Given the description of an element on the screen output the (x, y) to click on. 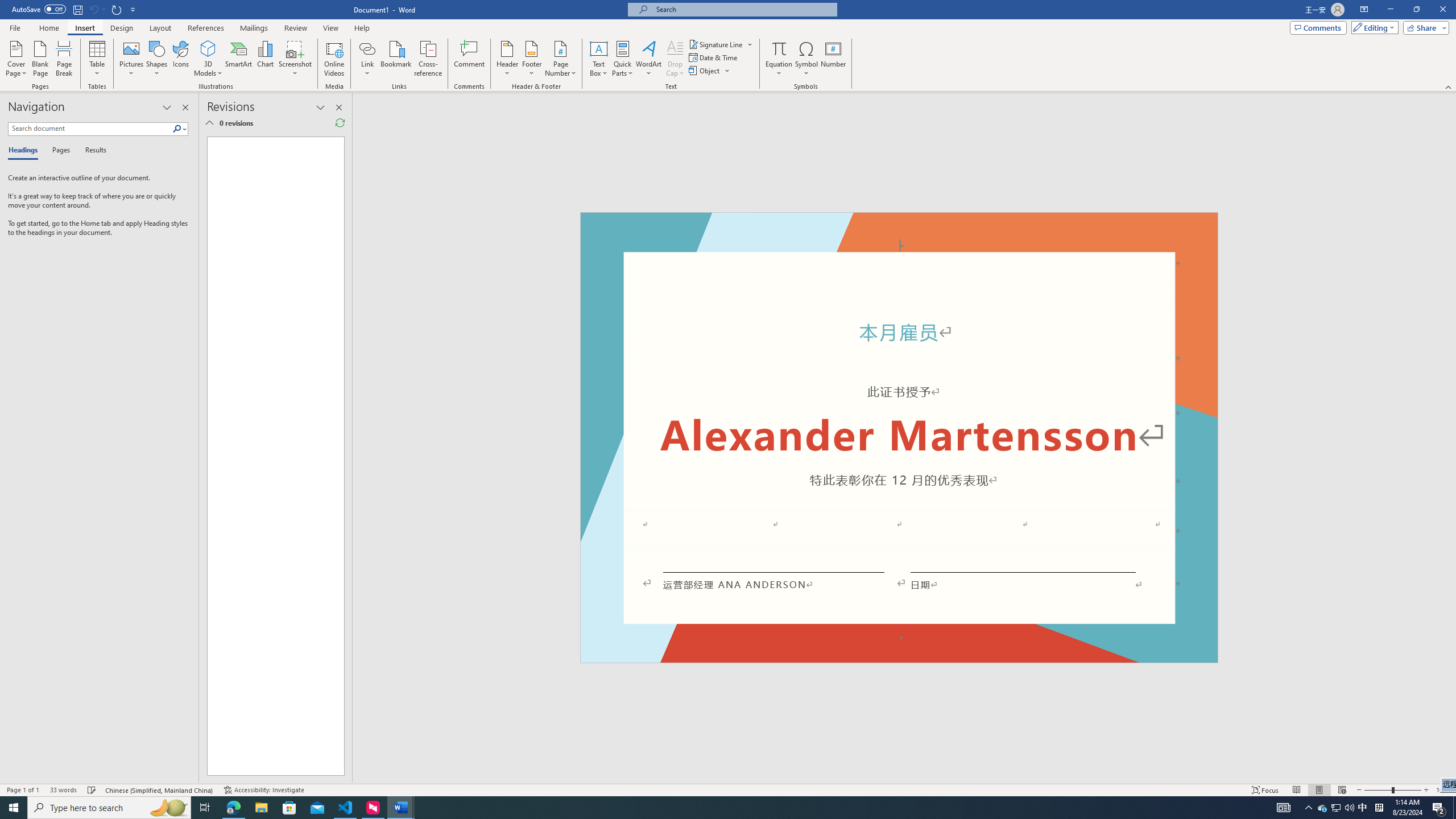
Comment (469, 58)
Close pane (185, 107)
Signature Line (721, 44)
Object... (709, 69)
Quick Parts (622, 58)
Decorative (898, 437)
Pages (59, 150)
Equation (778, 48)
SmartArt... (238, 58)
Mode (1372, 27)
Shapes (156, 58)
Language Chinese (Simplified, Mainland China) (159, 790)
Screenshot (295, 58)
